Given the description of an element on the screen output the (x, y) to click on. 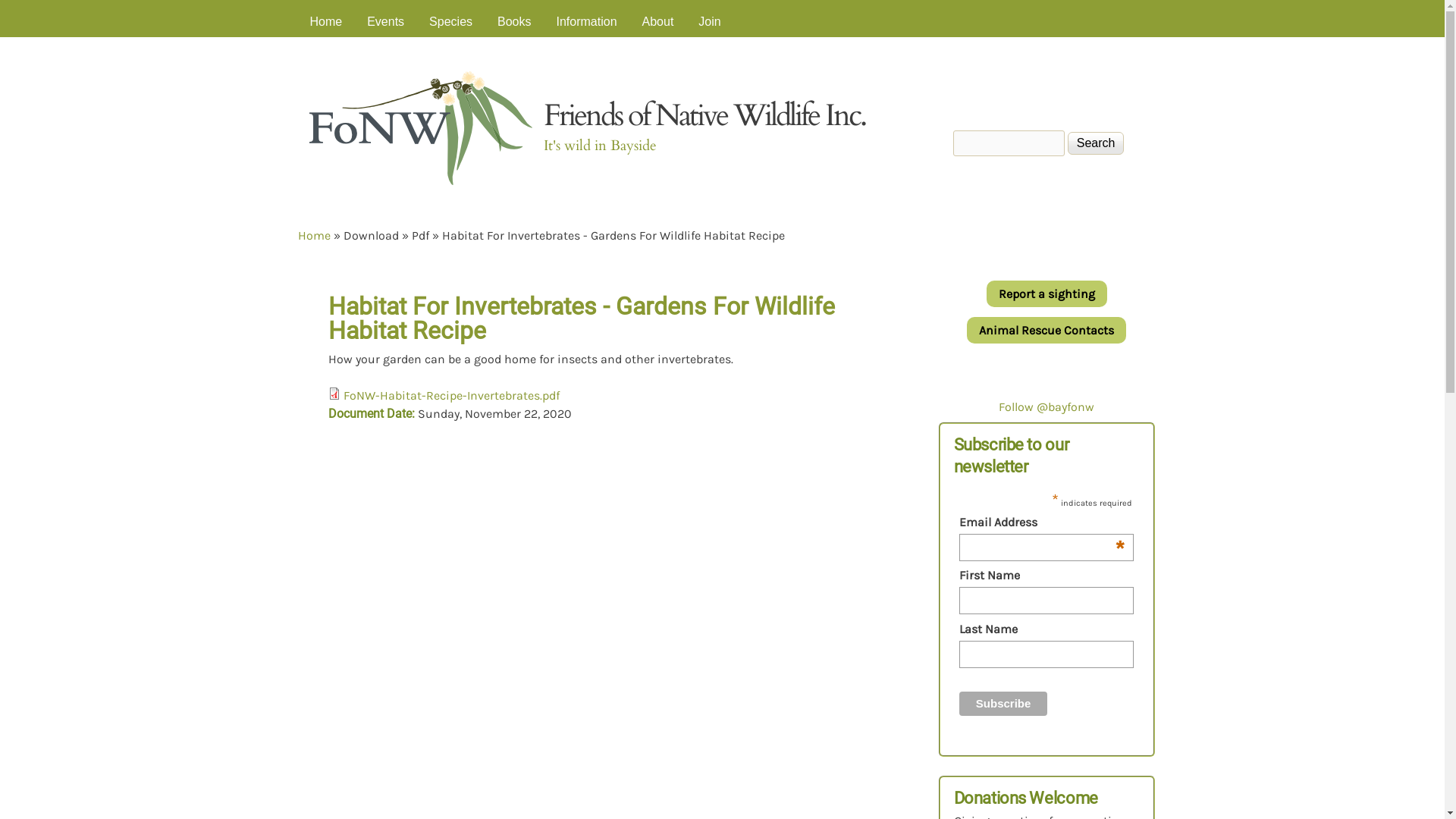
Home Element type: text (313, 235)
Events Element type: text (385, 21)
Home Element type: text (325, 21)
Friends of Native Wildlife Inc. Element type: text (703, 115)
Report a sighting Element type: text (1045, 293)
Enter the terms you wish to search for. Element type: hover (1008, 143)
Follow @bayfonw Element type: text (1046, 406)
application/pdf Element type: hover (333, 393)
Animal Rescue Contacts Element type: text (1046, 329)
Skip to main content Element type: text (708, 0)
FoNW-Habitat-Recipe-Invertebrates.pdf Element type: text (450, 395)
Subscribe Element type: text (1003, 703)
Search Element type: text (1095, 142)
Information Element type: text (586, 21)
About Element type: text (658, 21)
Join Element type: text (709, 21)
Species Element type: text (450, 21)
Books Element type: text (513, 21)
